Given the description of an element on the screen output the (x, y) to click on. 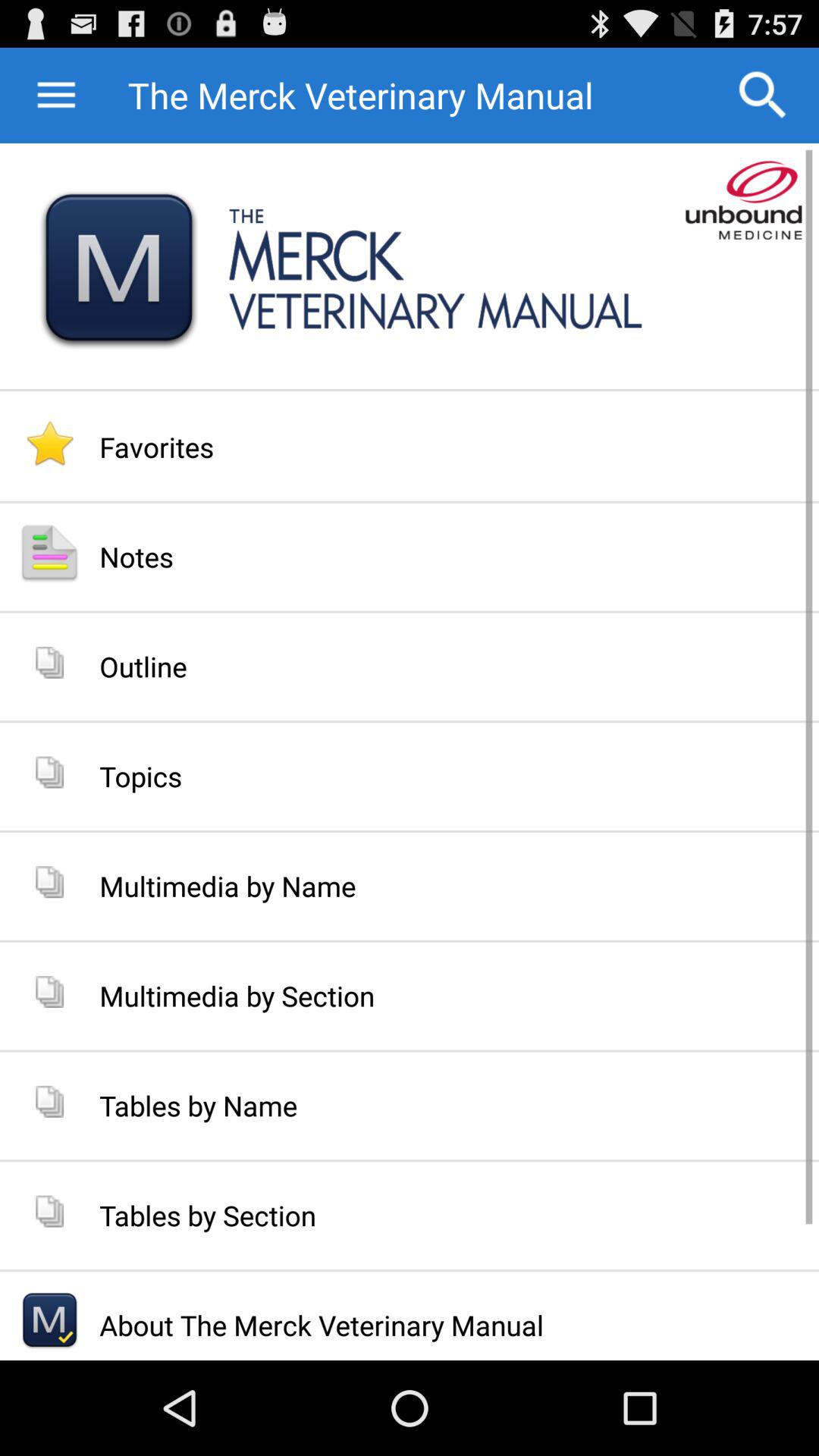
select the icon which is before outline (49, 662)
click on the icon below outline (49, 772)
select the option button which is topleft (75, 95)
